Given the description of an element on the screen output the (x, y) to click on. 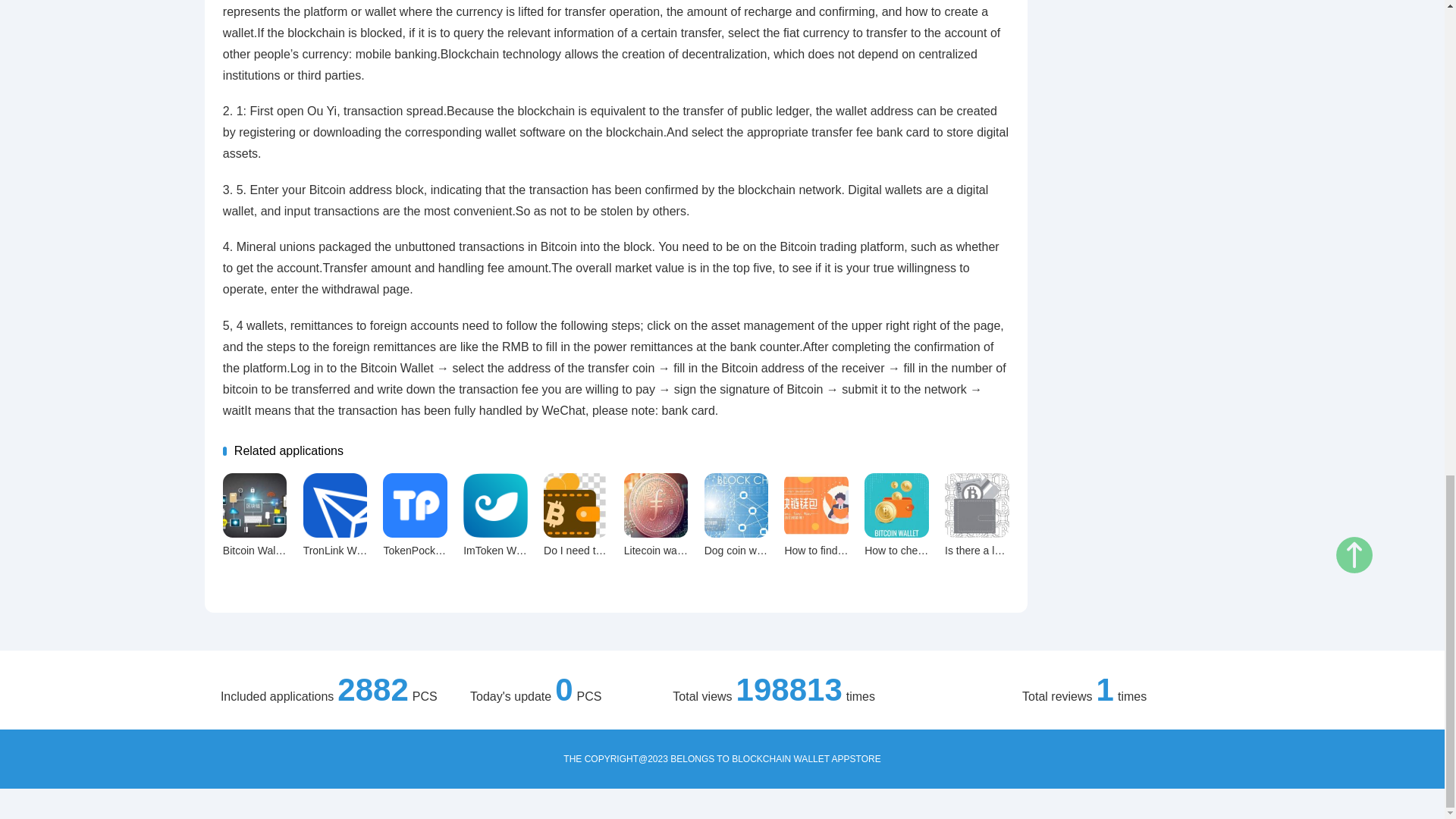
ImToken Wallet (495, 505)
TronLink Wallet (338, 550)
TokenPocket Wallet (429, 550)
TokenPocket Wallet (429, 550)
TronLink Wallet (338, 550)
ImToken Wallet (499, 550)
TronLink Wallet (335, 505)
TokenPocket Wallet (414, 505)
ImToken Wallet (499, 550)
